Given the description of an element on the screen output the (x, y) to click on. 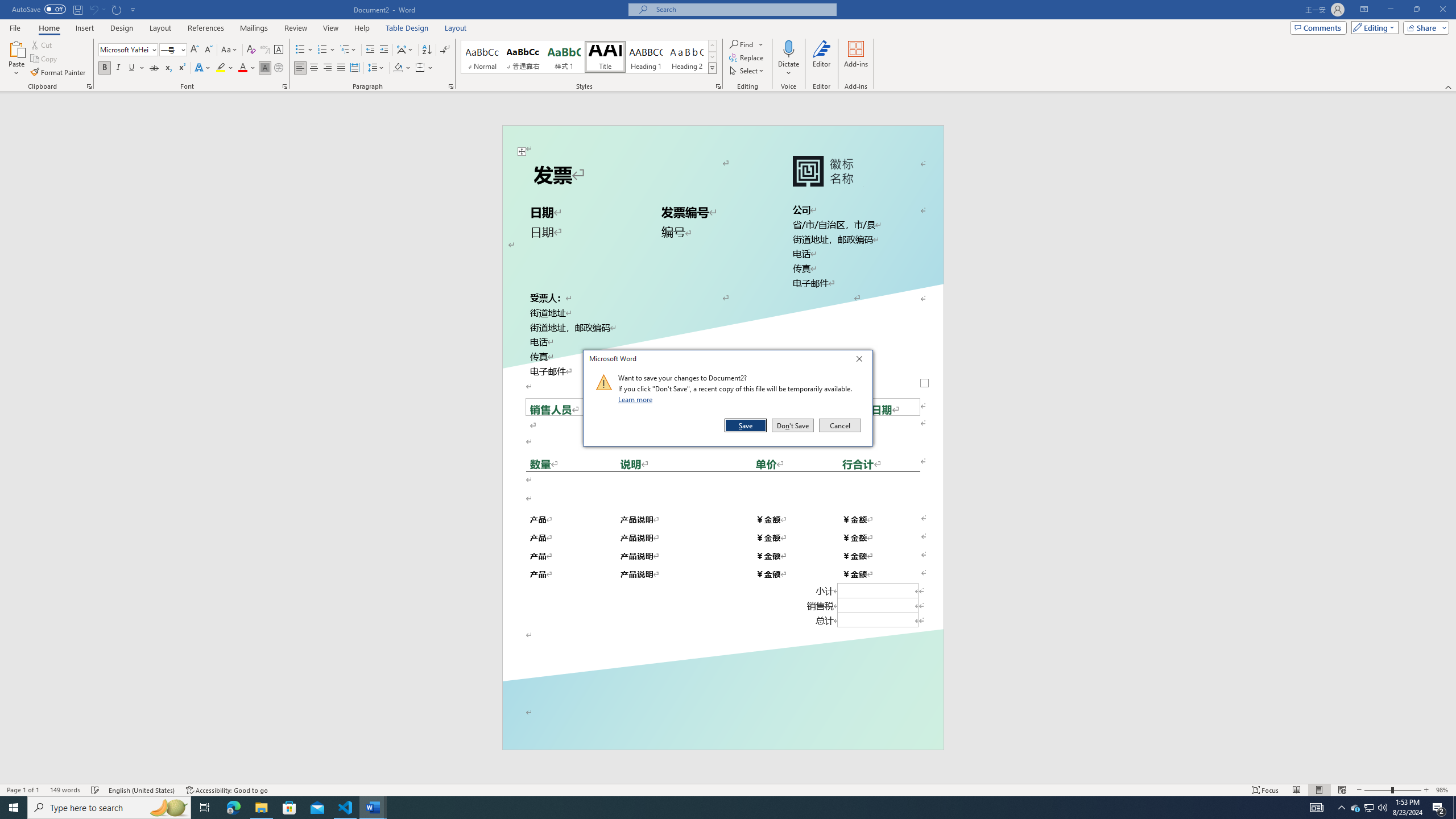
Ribbon Display Options (1364, 9)
Styles... (717, 85)
Type here to search (108, 807)
Multilevel List (347, 49)
Subscript (167, 67)
Show desktop (1454, 807)
Word - 2 running windows (373, 807)
Microsoft search (742, 9)
More Options (788, 68)
Review (295, 28)
Collapse the Ribbon (1448, 86)
File Tab (15, 27)
Font Color (1368, 807)
Bullets (246, 67)
